Given the description of an element on the screen output the (x, y) to click on. 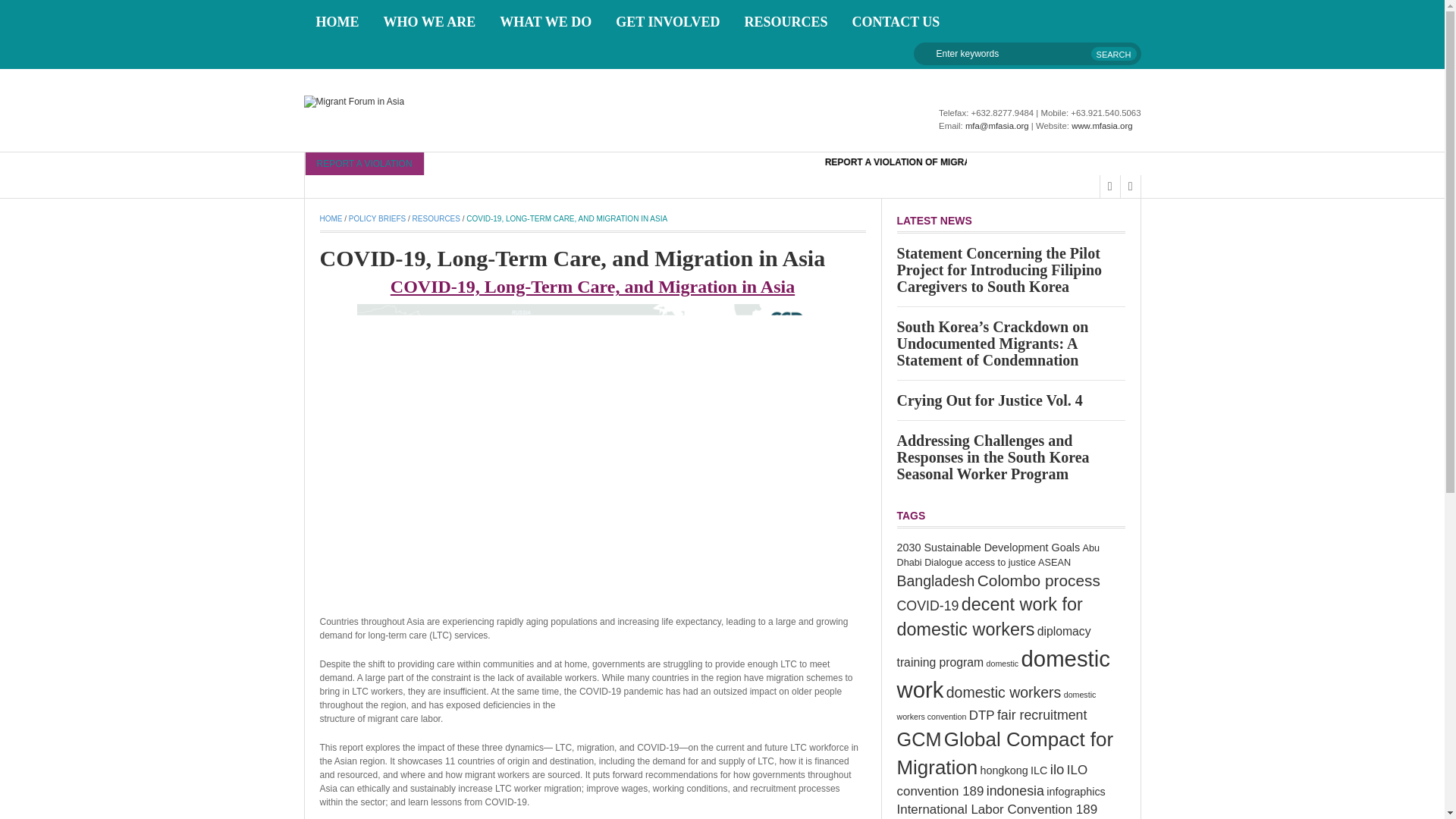
Enter keywords (1026, 53)
WHAT WE DO (545, 21)
Enter keywords (1026, 53)
HOME (336, 21)
GET INVOLVED (668, 21)
RESOURCES (786, 21)
Search (1112, 53)
WHO WE ARE (429, 21)
Search (1112, 53)
